Given the description of an element on the screen output the (x, y) to click on. 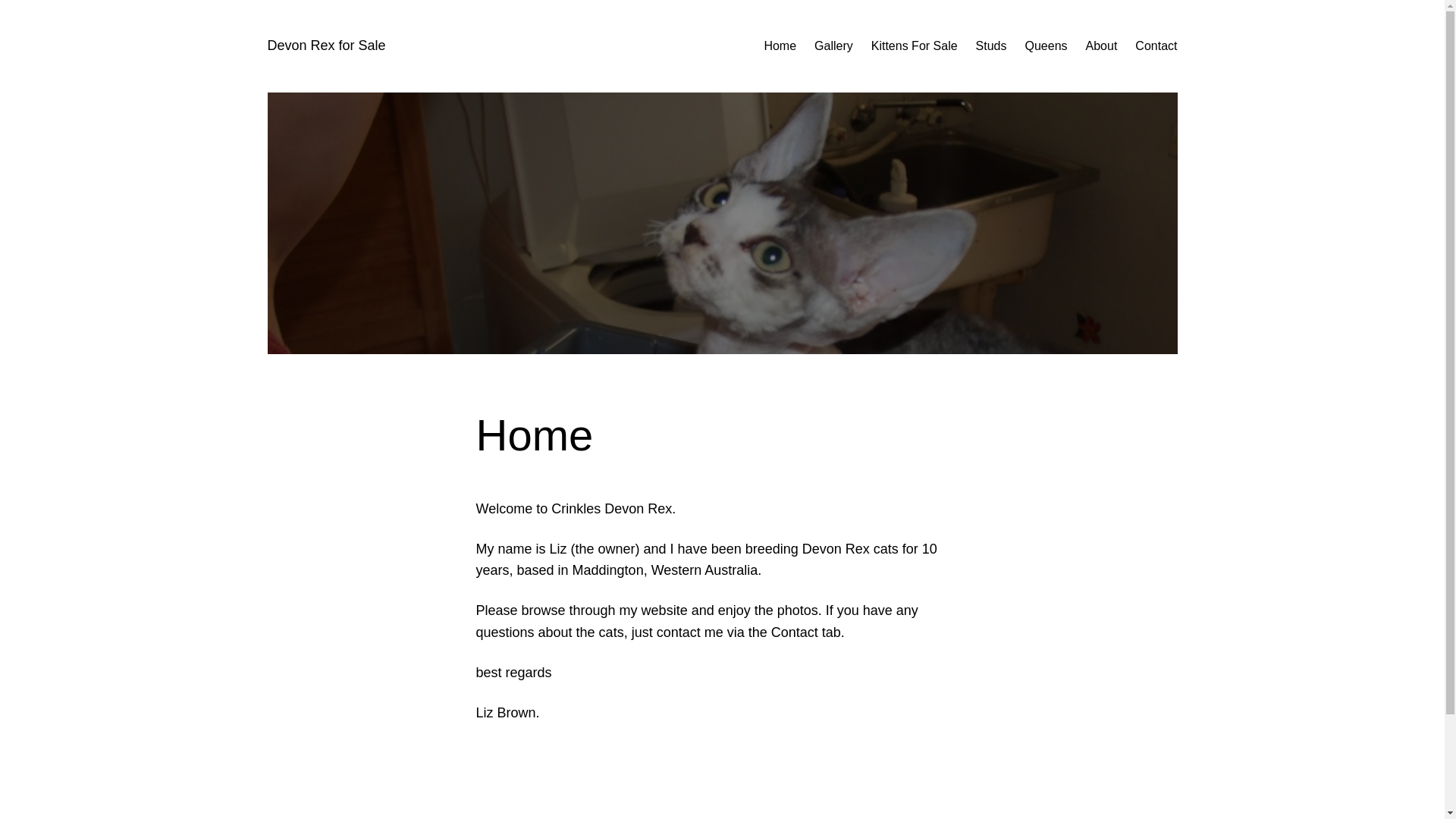
About Element type: text (1101, 46)
Studs Element type: text (991, 46)
Kittens For Sale Element type: text (914, 46)
Gallery Element type: text (833, 46)
Devon Rex for Sale Element type: text (325, 45)
Queens Element type: text (1046, 46)
Contact Element type: text (1155, 46)
Home Element type: text (779, 46)
